Given the description of an element on the screen output the (x, y) to click on. 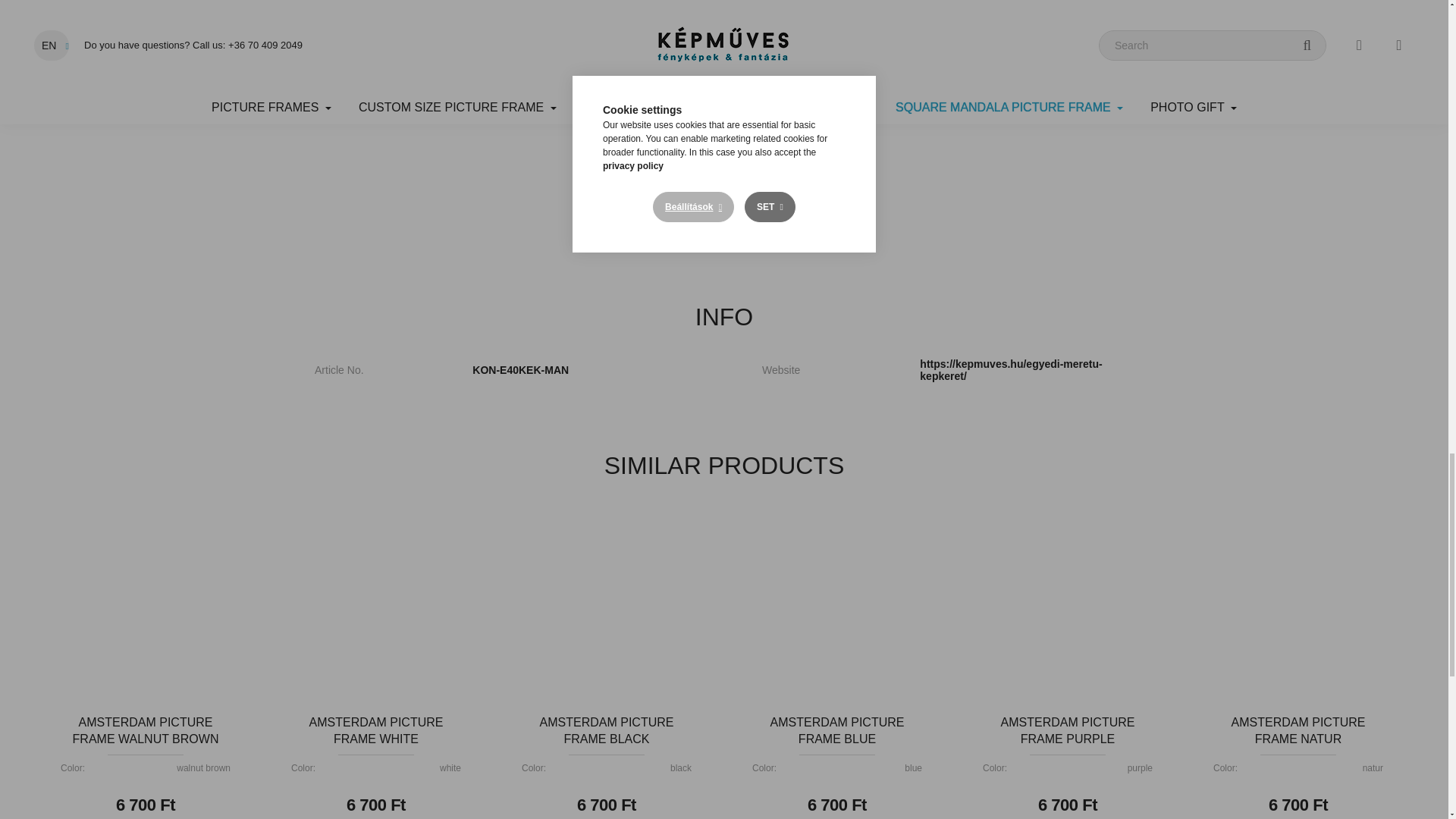
Amsterdam picture frame walnut brown (145, 598)
Amsterdam picture frame white (376, 598)
Amsterdam picture frame black (606, 598)
